Given the description of an element on the screen output the (x, y) to click on. 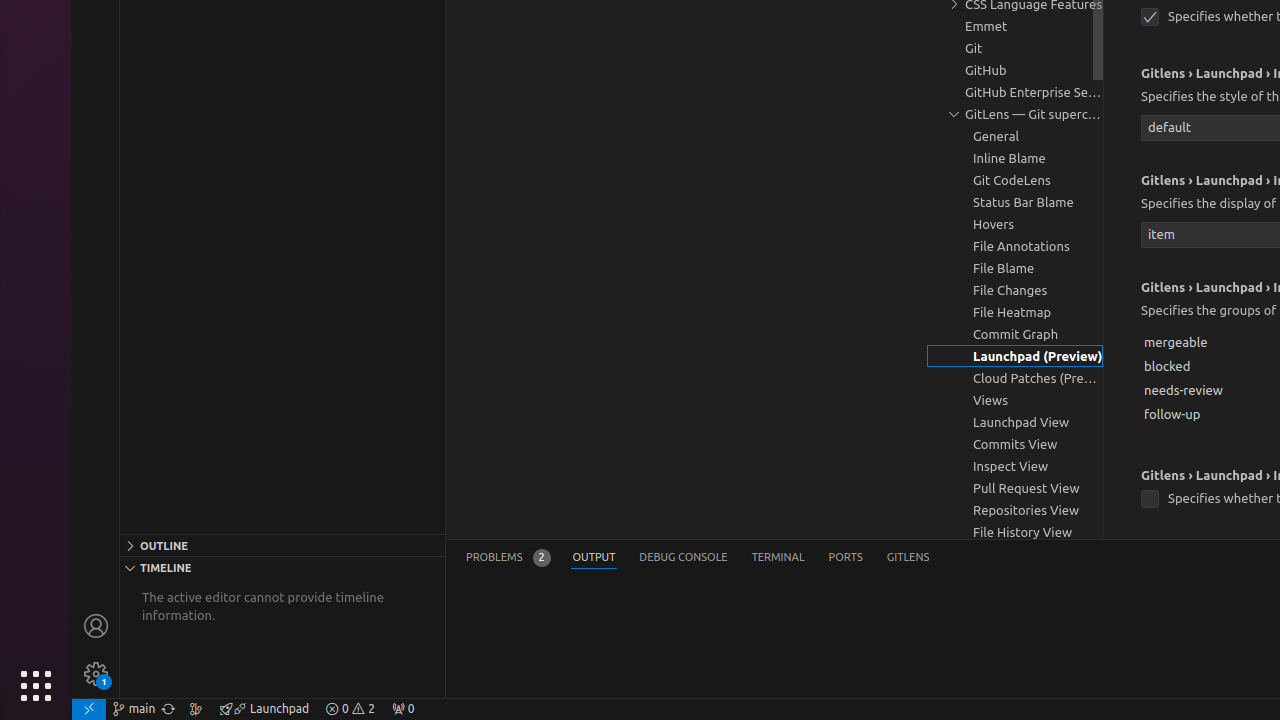
Inline Blame, group Element type: tree-item (1015, 158)
Pull Request View, group Element type: tree-item (1015, 488)
gitlens.launchpad.indicator.useColors Element type: check-box (1150, 499)
Manage - New Code update available. Element type: push-button (96, 674)
Emmet, group Element type: tree-item (1015, 26)
